Given the description of an element on the screen output the (x, y) to click on. 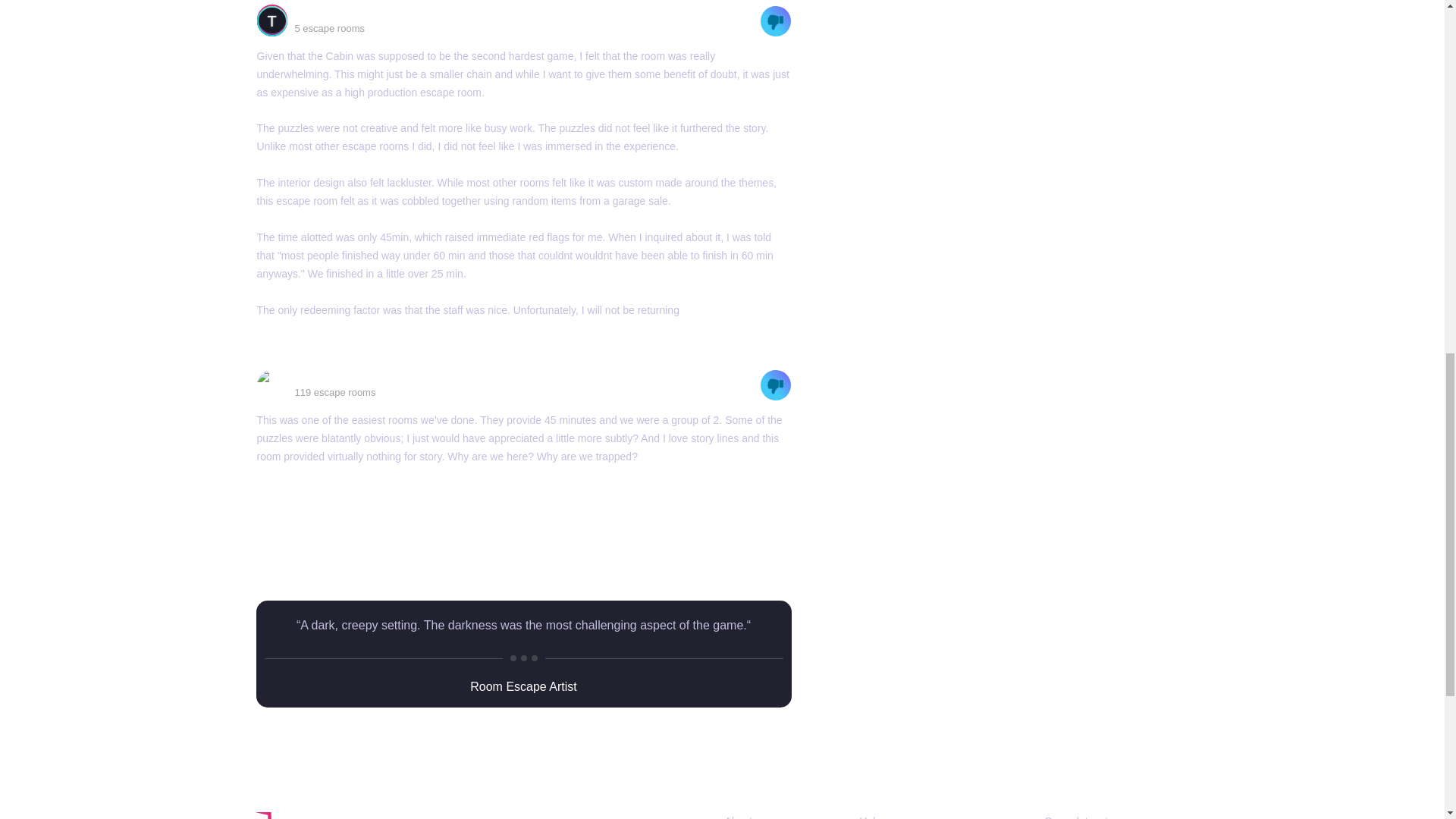
Room Escape Artist (523, 686)
About (738, 816)
ToastyTortoise61 (340, 12)
theatlescapecouple (346, 377)
